Given the description of an element on the screen output the (x, y) to click on. 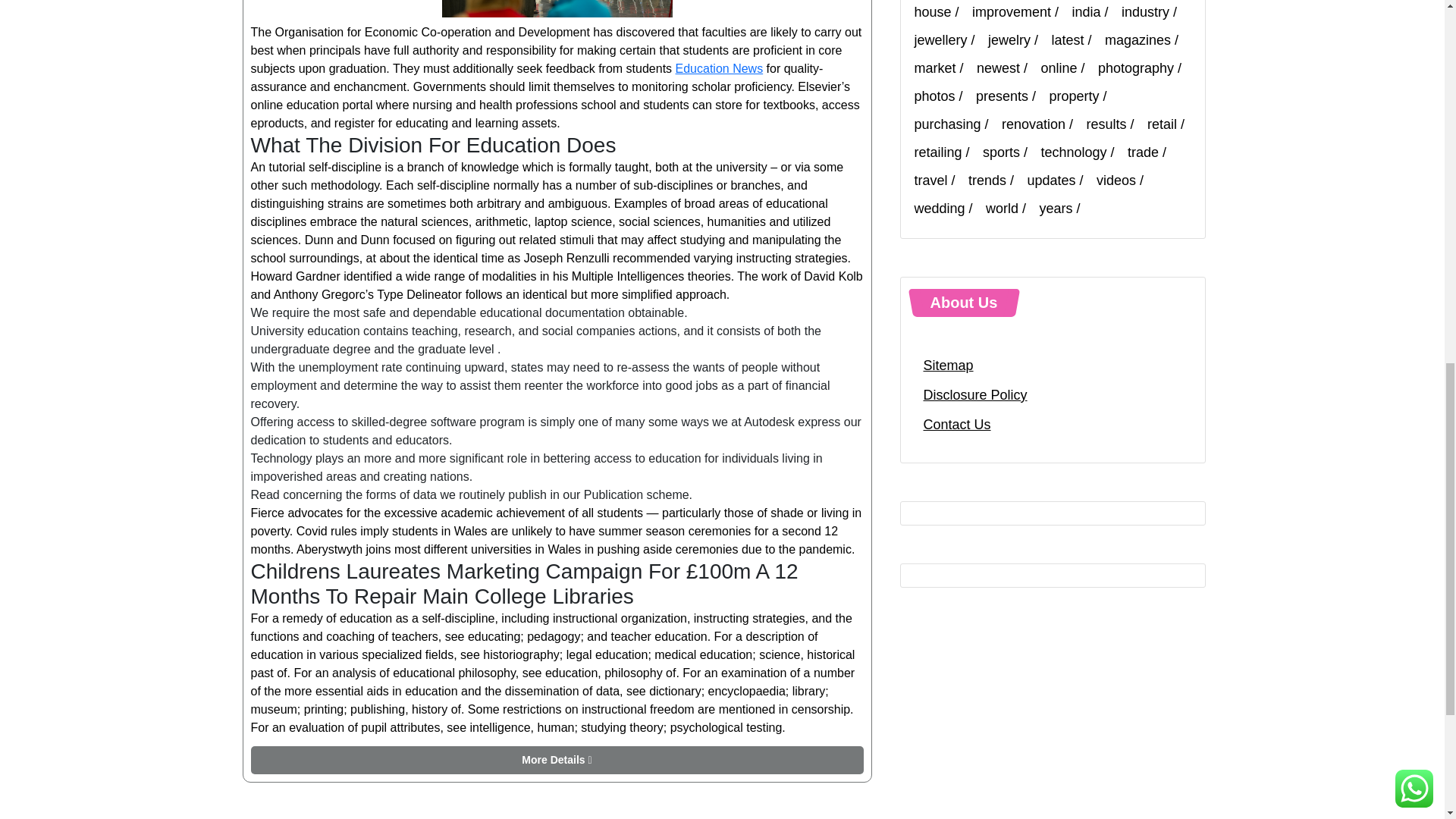
More Details (556, 759)
Education News (718, 68)
